Given the description of an element on the screen output the (x, y) to click on. 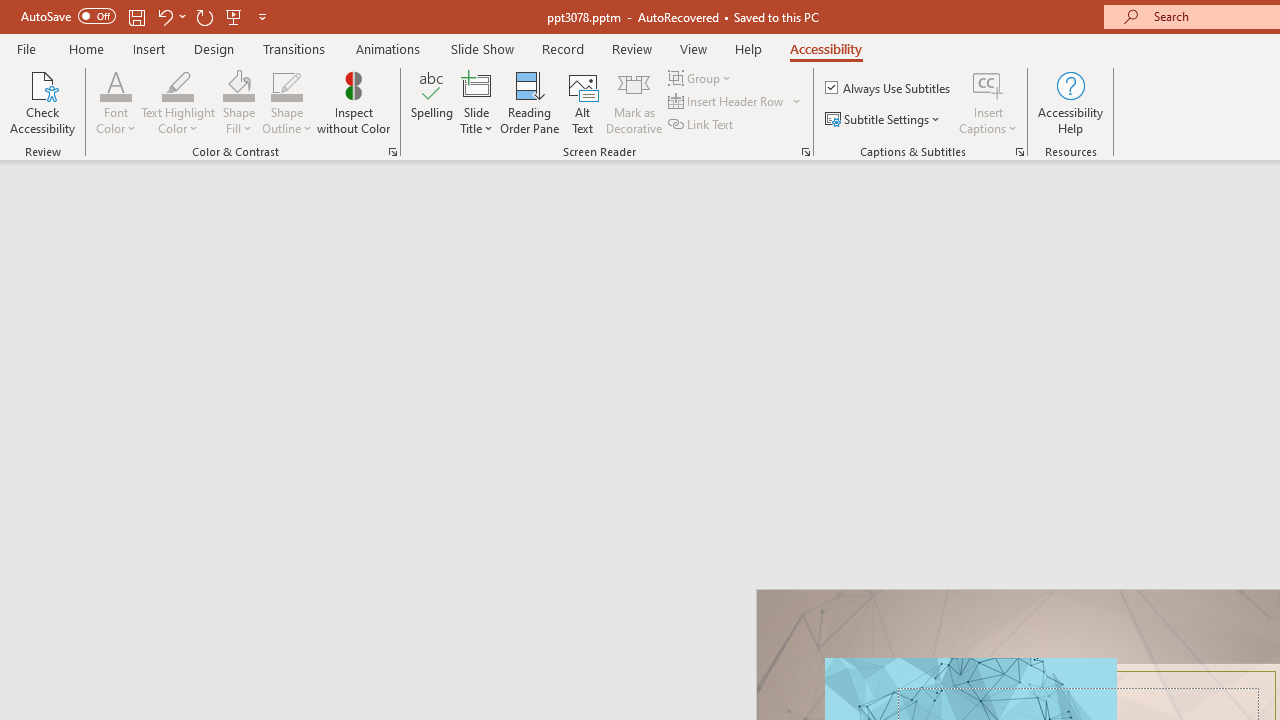
Color & Contrast (392, 151)
Slide Title (476, 84)
Subtitle Settings (884, 119)
Captions & Subtitles (1019, 151)
Accessibility Help (1070, 102)
Mark as Decorative (634, 102)
Insert Header Row (727, 101)
